Given the description of an element on the screen output the (x, y) to click on. 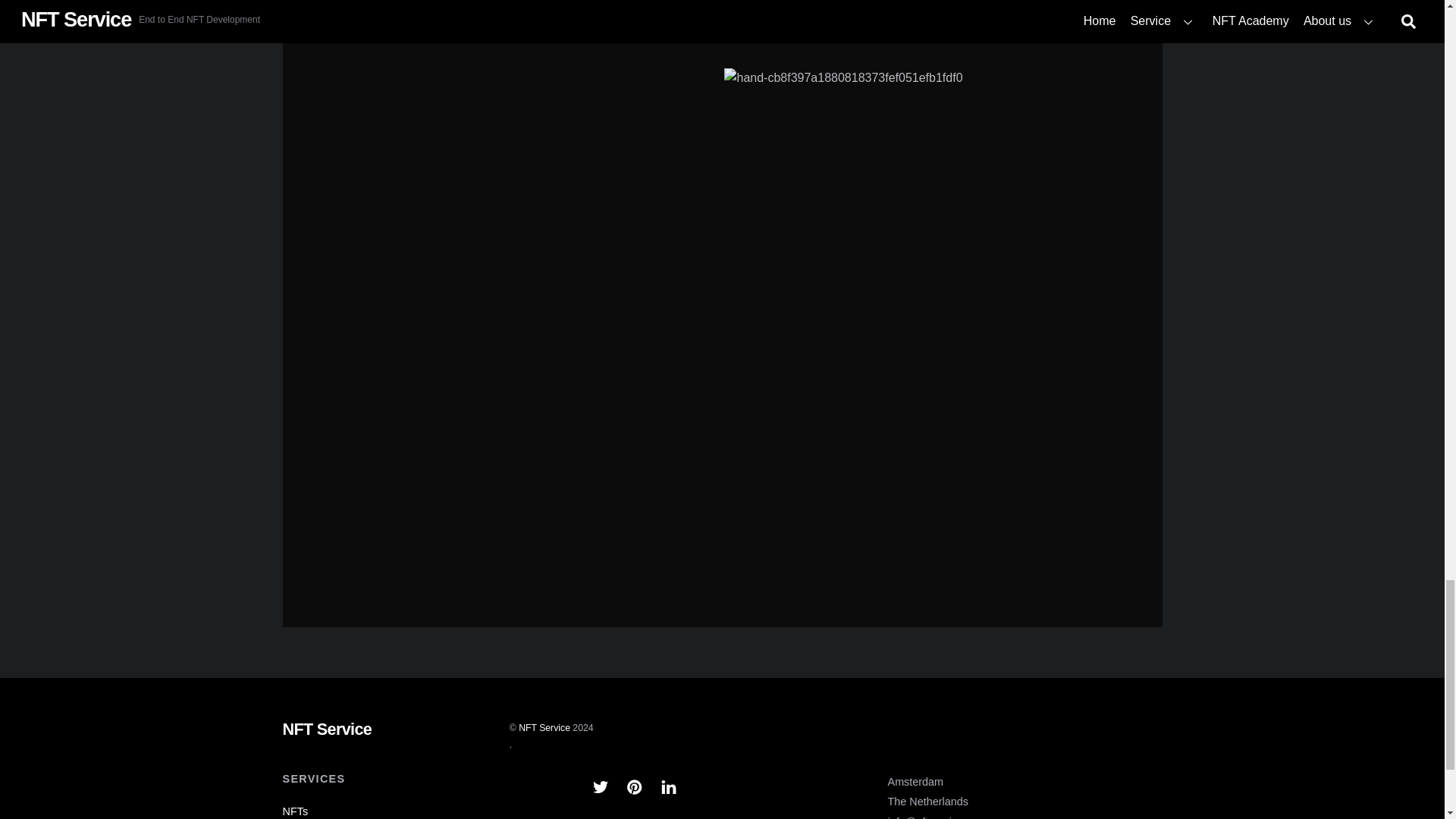
NFTs (294, 811)
NFT Service (544, 727)
NFT Service (326, 728)
NFT Service (326, 728)
